Given the description of an element on the screen output the (x, y) to click on. 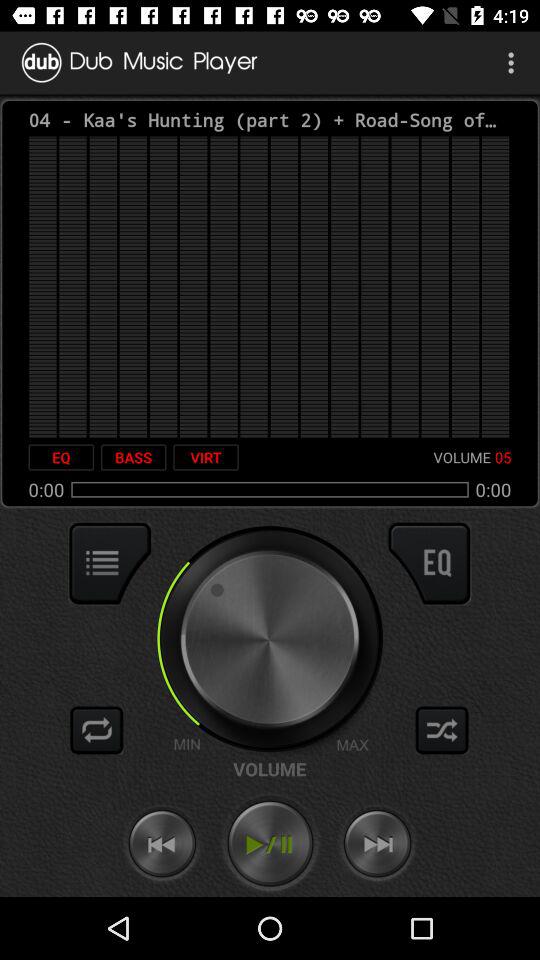
open options for the eq (429, 563)
